Given the description of an element on the screen output the (x, y) to click on. 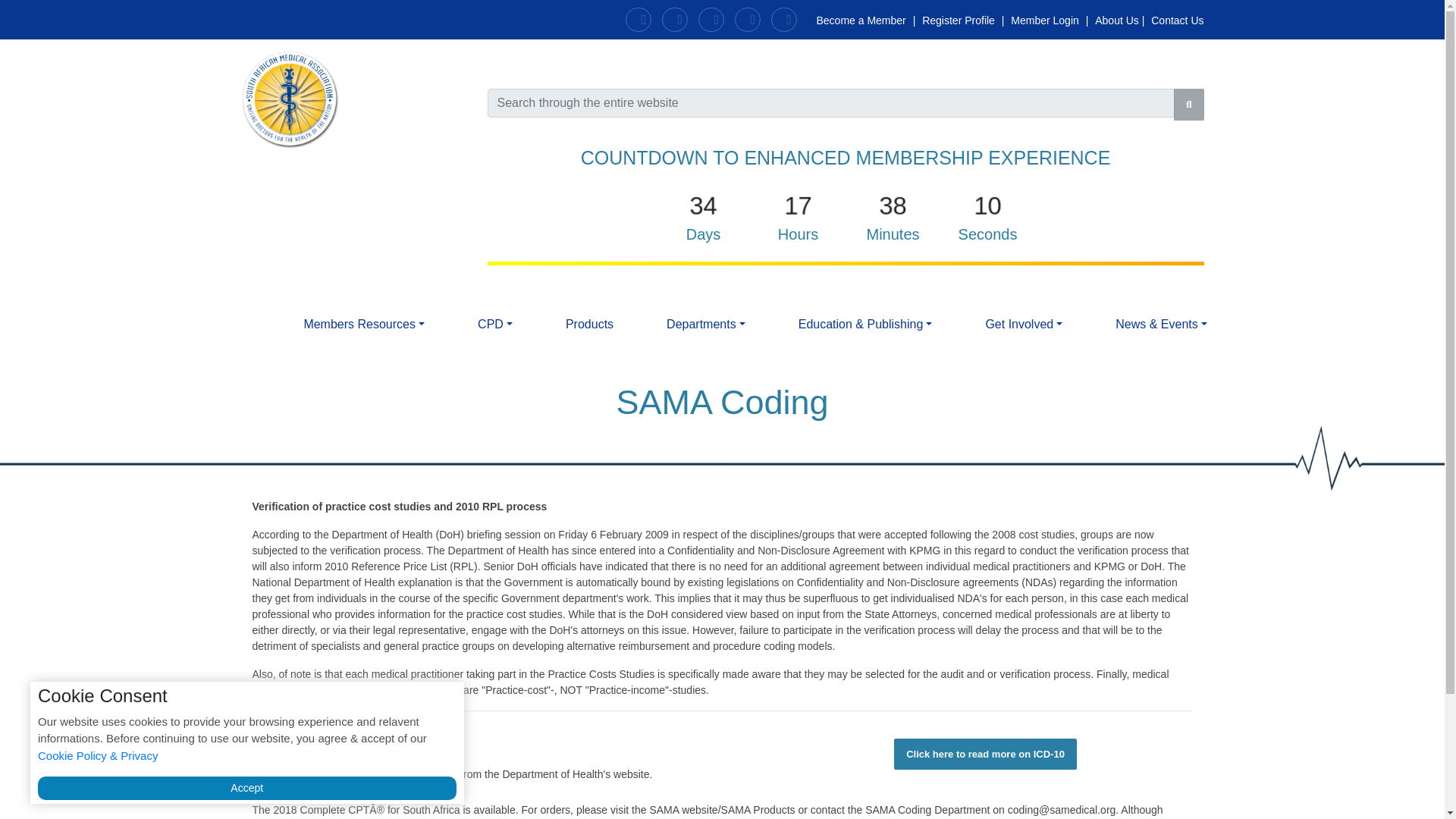
Member Login (1045, 20)
CPD (494, 324)
About Us (1114, 20)
Become a Member (860, 20)
Contact Us (1175, 20)
Register Profile (958, 20)
Members Resources (363, 324)
